Given the description of an element on the screen output the (x, y) to click on. 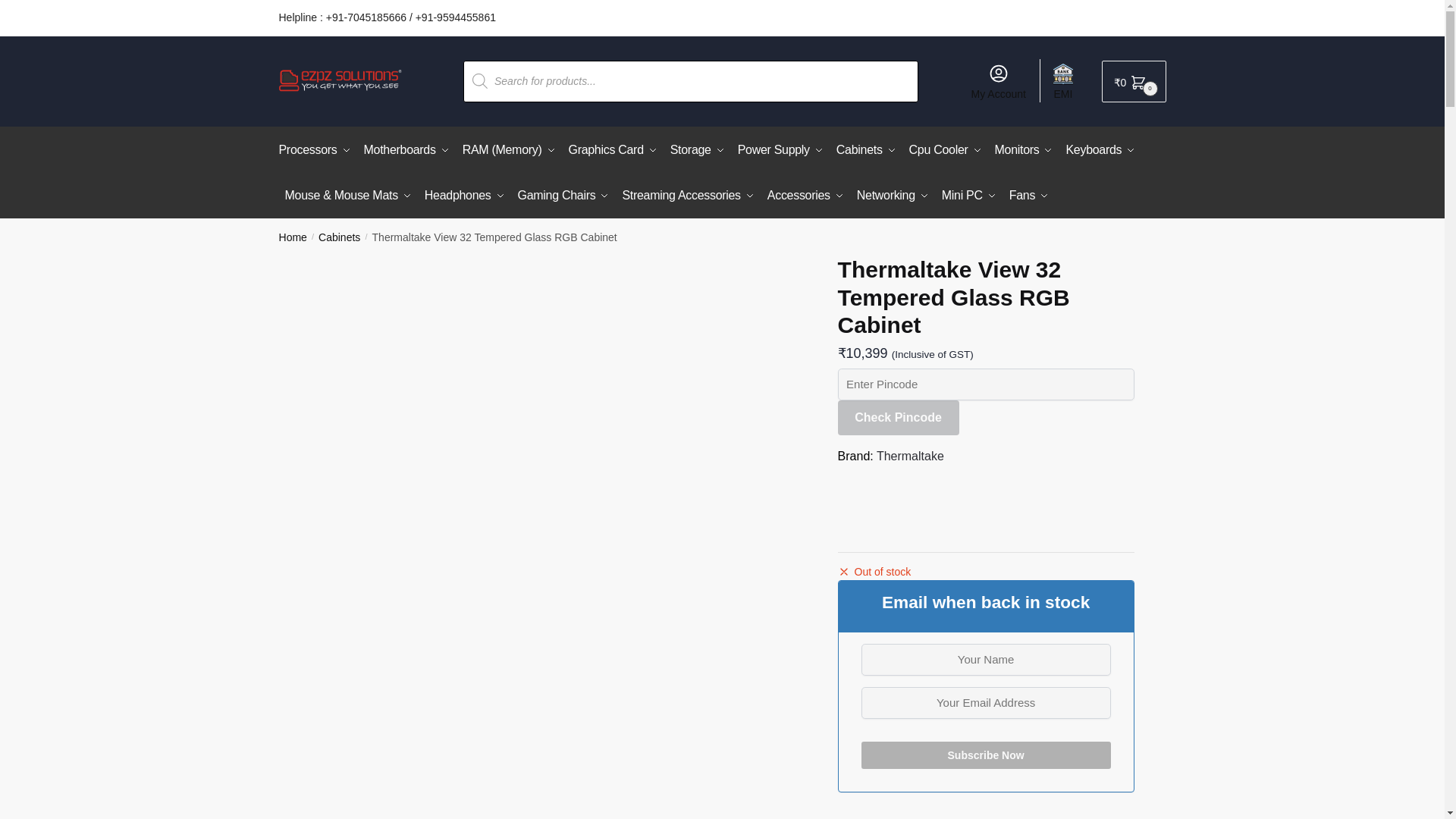
My Account (997, 80)
Graphics Card (612, 149)
Processors (317, 149)
Motherboards (406, 149)
Subscribe Now (985, 755)
View your shopping cart (1134, 81)
